Given the description of an element on the screen output the (x, y) to click on. 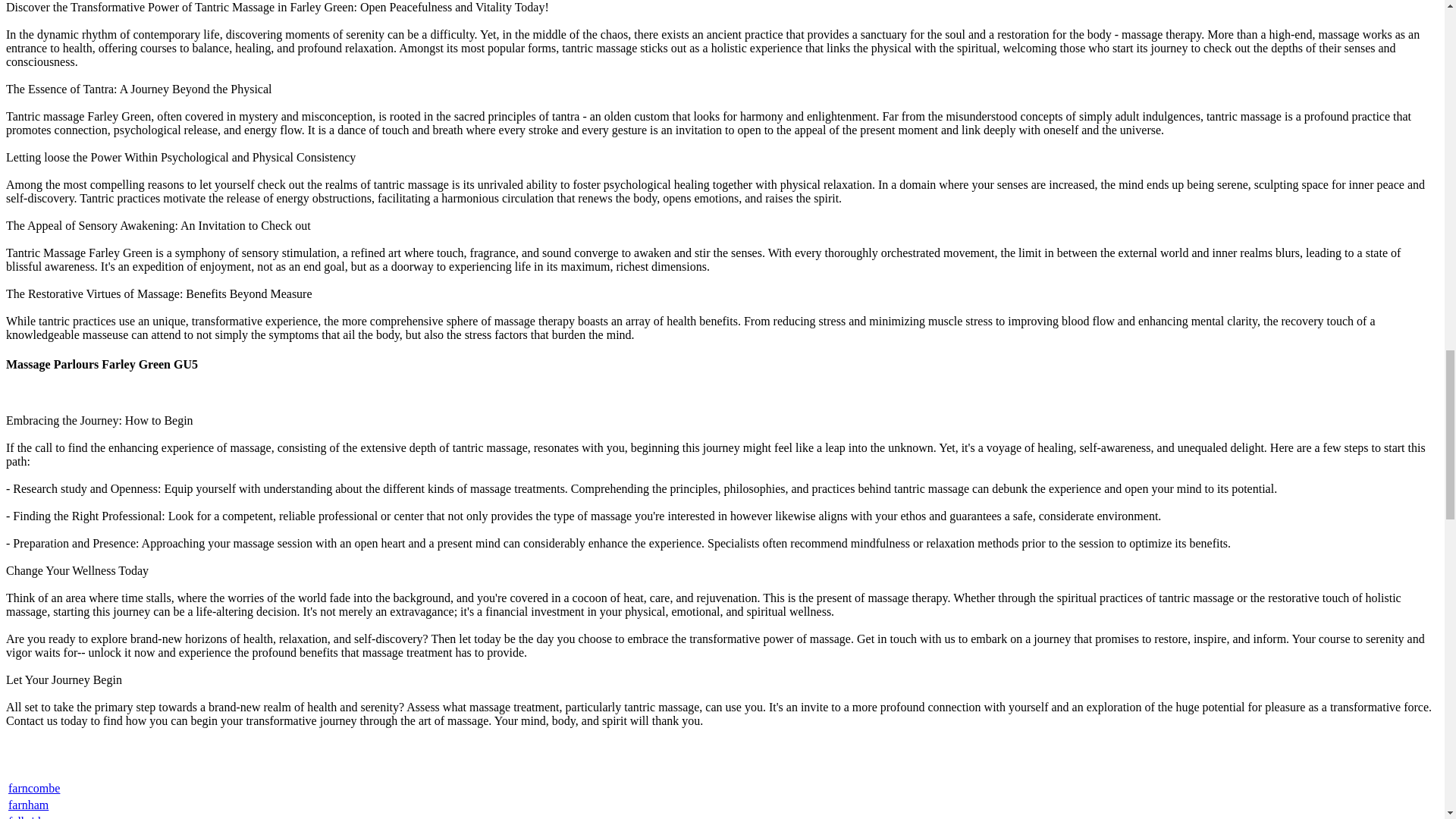
farnham (28, 804)
farncombe (33, 788)
felbridge (30, 816)
